Given the description of an element on the screen output the (x, y) to click on. 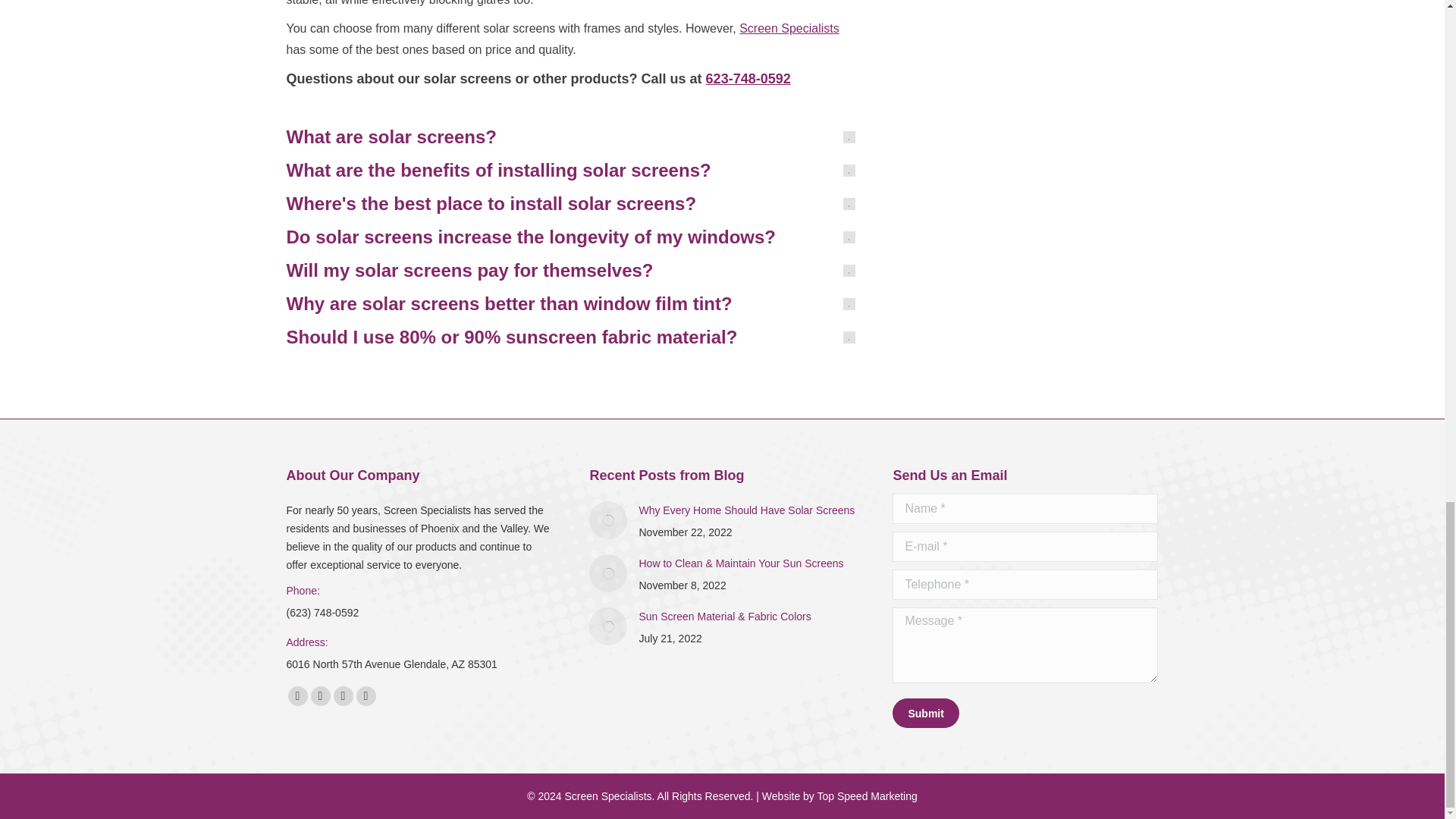
Submit (925, 713)
Instagram page opens in new window (365, 695)
Pinterest page opens in new window (343, 695)
Twitter page opens in new window (320, 695)
Facebook page opens in new window (297, 695)
